Given the description of an element on the screen output the (x, y) to click on. 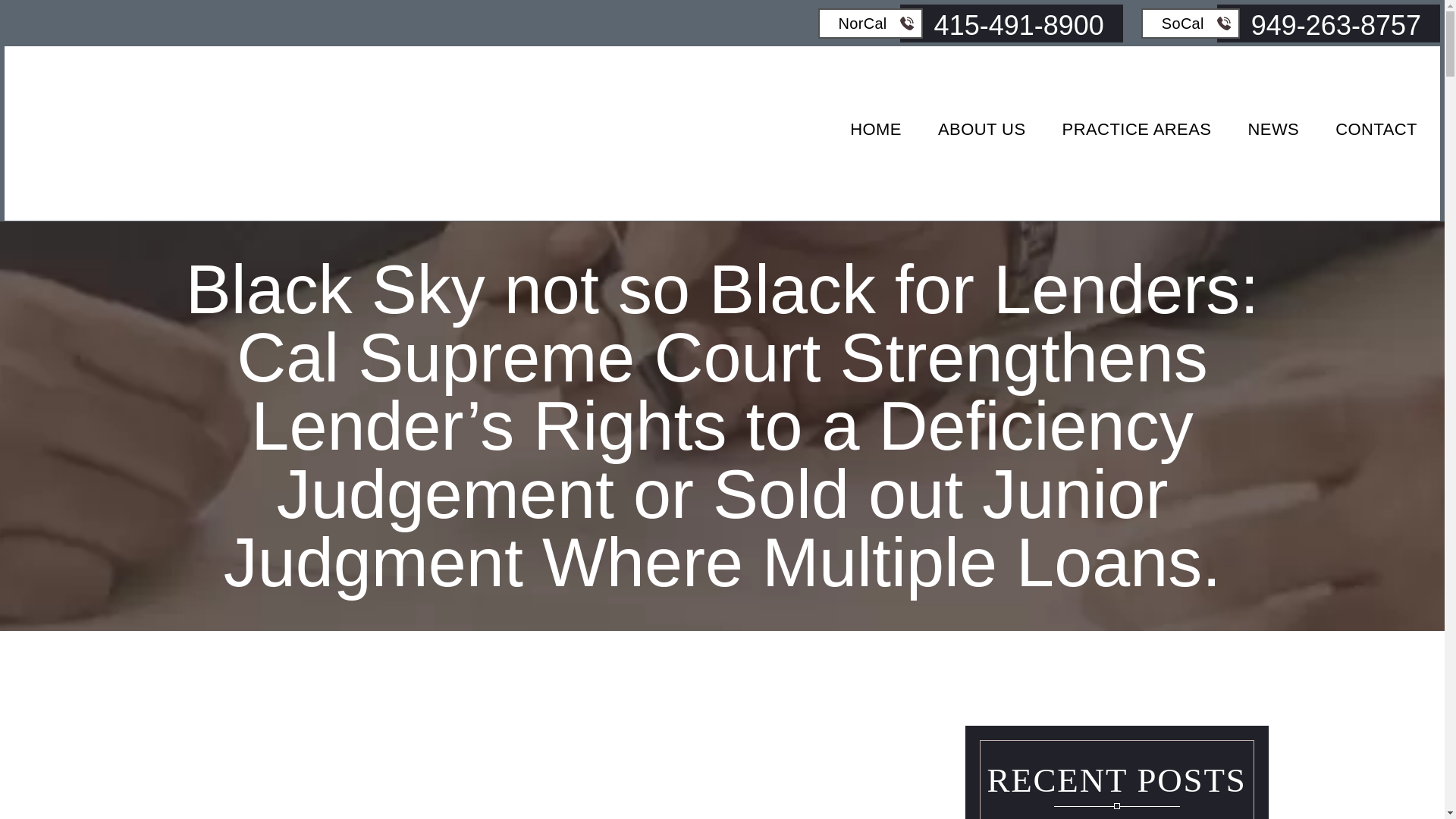
HOME (875, 136)
NEWS (1272, 136)
949-263-8757 (1328, 23)
ABOUT US (981, 136)
415-491-8900 (1010, 23)
CONTACT (1375, 136)
PRACTICE AREAS (1136, 136)
